Given the description of an element on the screen output the (x, y) to click on. 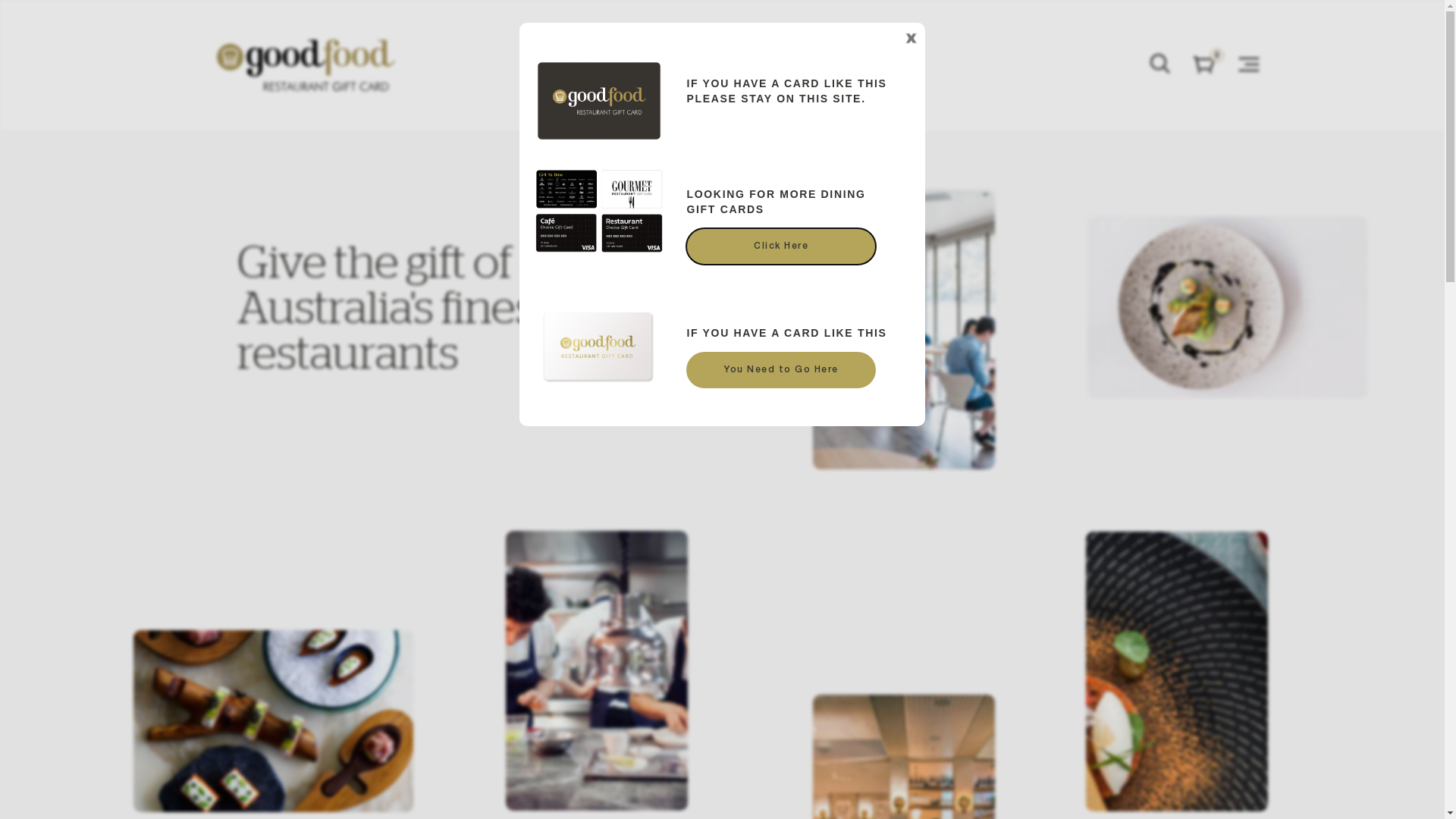
0 Element type: text (1204, 65)
You Need to Go Here Element type: text (780, 369)
Click Here Element type: text (780, 246)
